Given the description of an element on the screen output the (x, y) to click on. 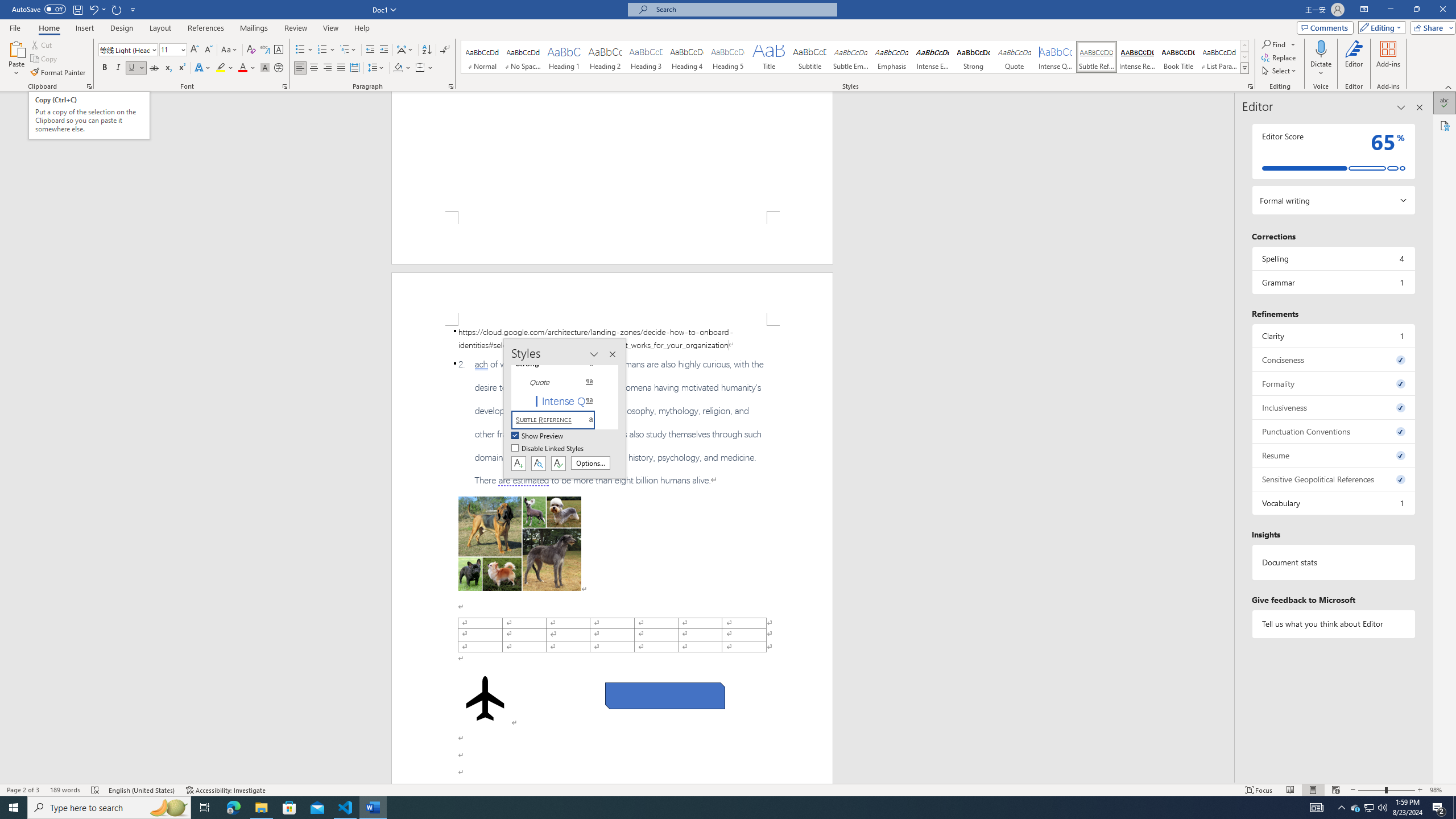
Resume, 0 issues. Press space or enter to review items. (1333, 454)
Subtle Emphasis (849, 56)
Intense Emphasis (932, 56)
